Given the description of an element on the screen output the (x, y) to click on. 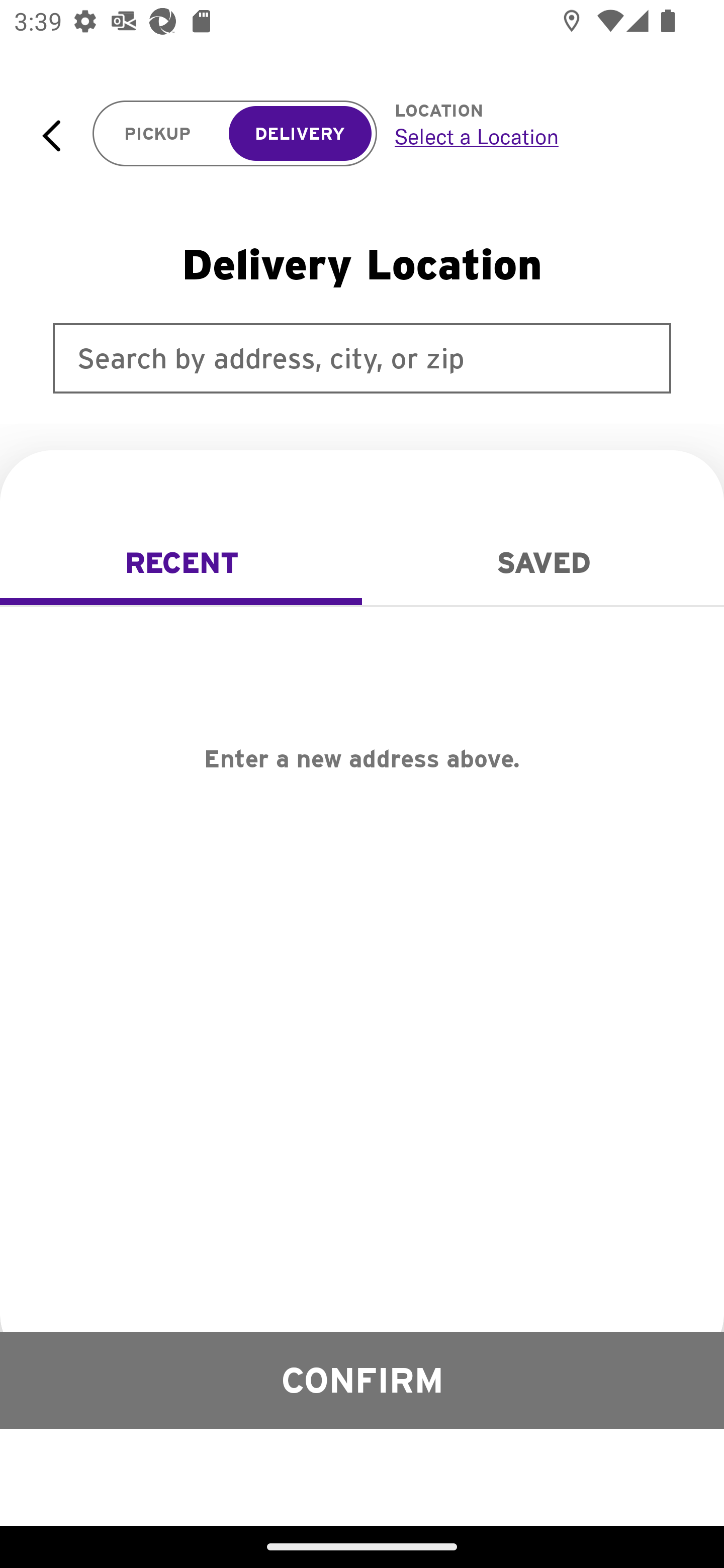
PICKUP (157, 133)
DELIVERY (299, 133)
Select a Location (536, 136)
Search by address, city, or zip (361, 358)
Saved SAVED (543, 562)
CONFIRM (362, 1379)
